Given the description of an element on the screen output the (x, y) to click on. 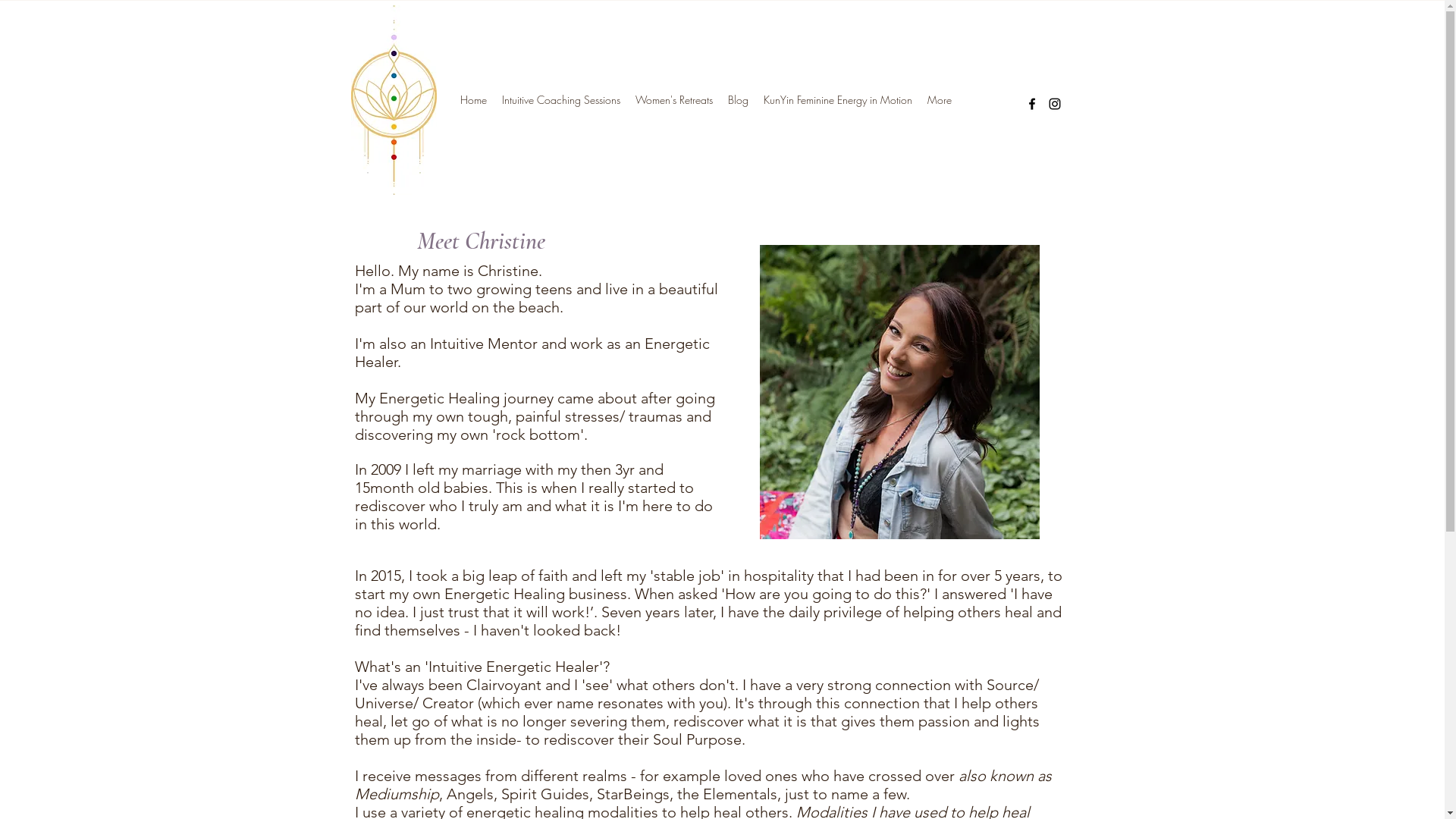
Women's Retreats Element type: text (673, 100)
Home Element type: text (472, 100)
KunYin Feminine Energy in Motion Element type: text (837, 100)
Blog Element type: text (738, 100)
Intuitive Coaching Sessions Element type: text (560, 100)
